Given the description of an element on the screen output the (x, y) to click on. 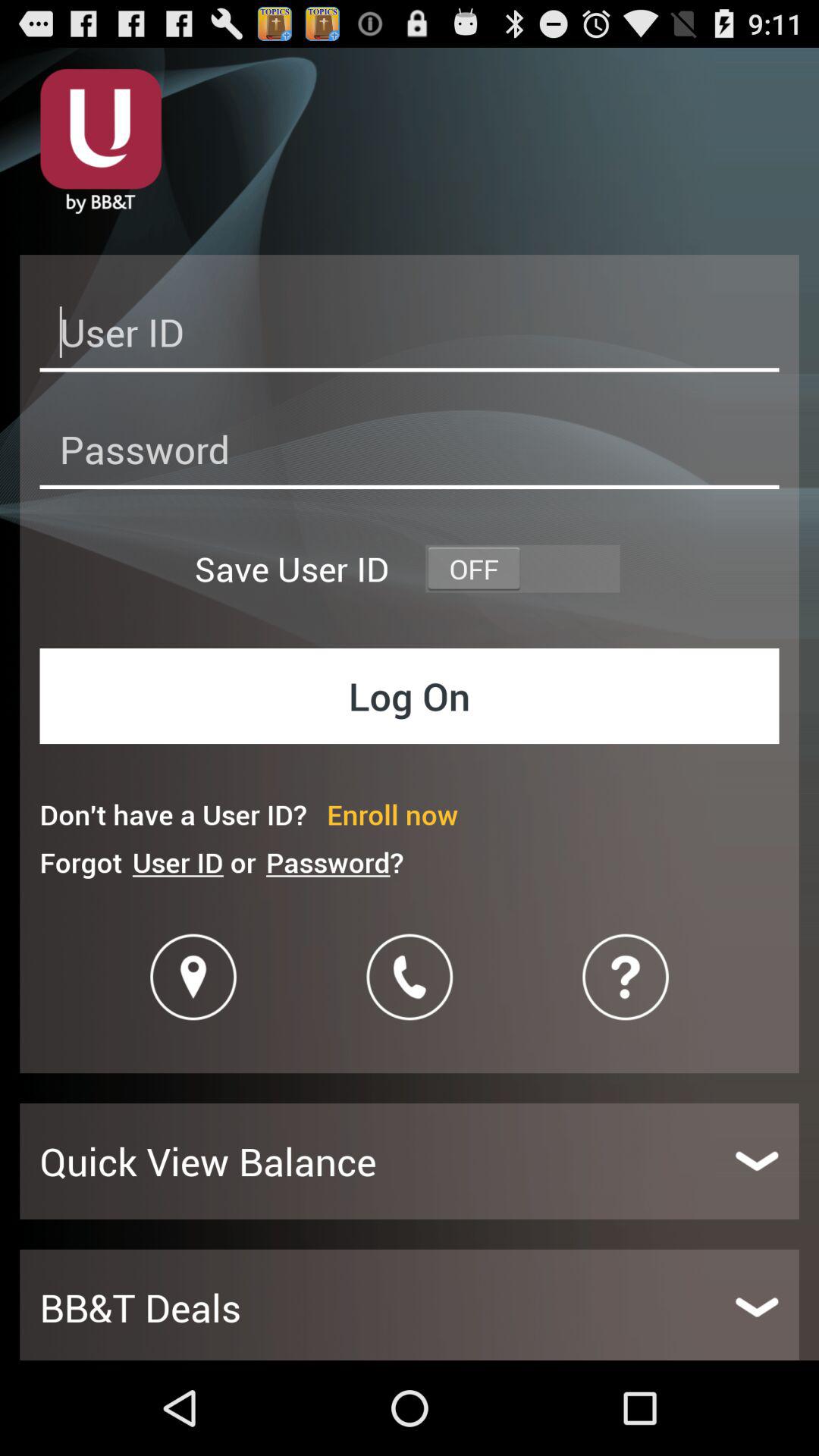
tap item above password? (392, 814)
